Given the description of an element on the screen output the (x, y) to click on. 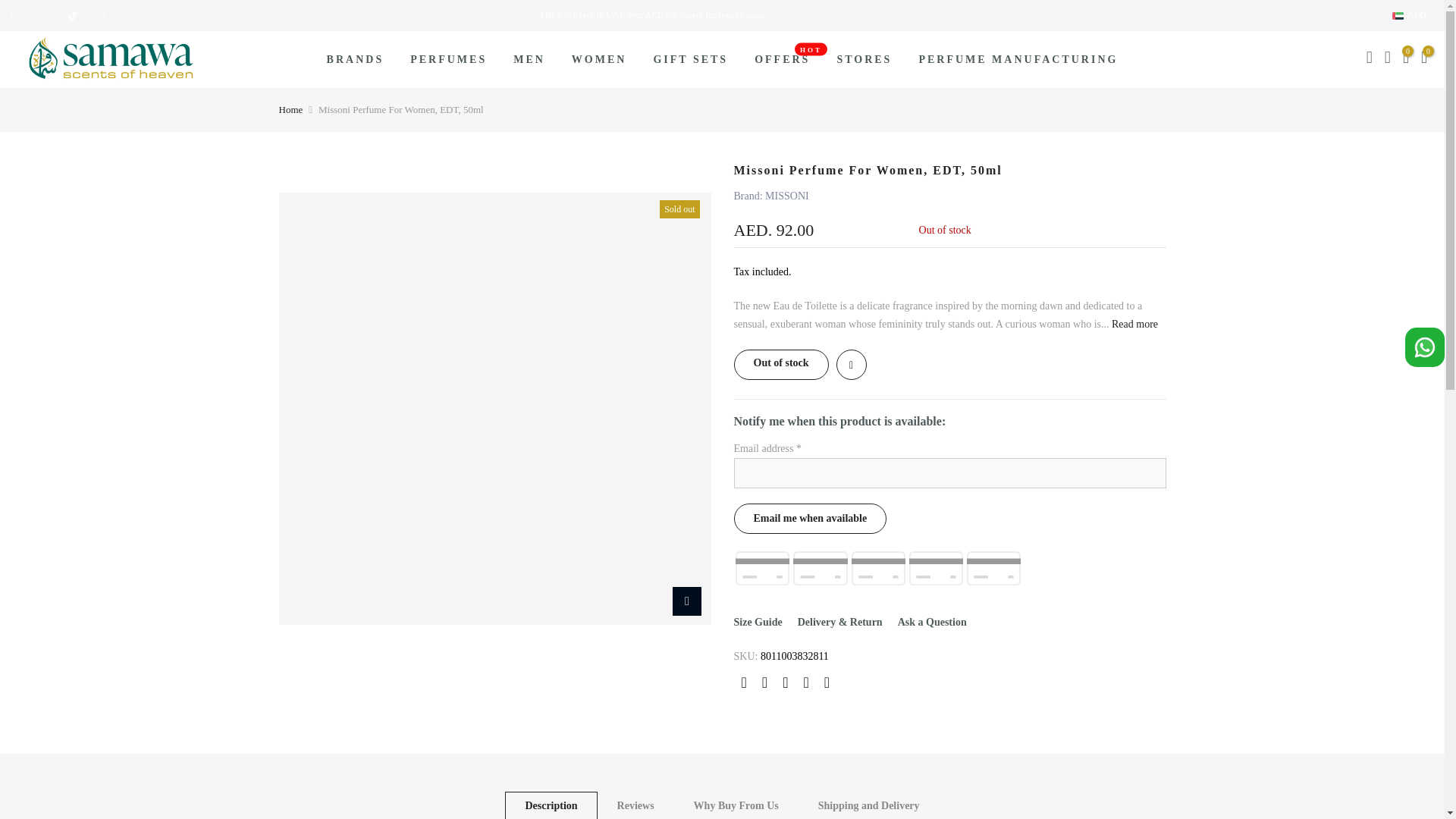
Email me when available (809, 518)
PERFUMES (448, 58)
BRANDS (355, 58)
